Given the description of an element on the screen output the (x, y) to click on. 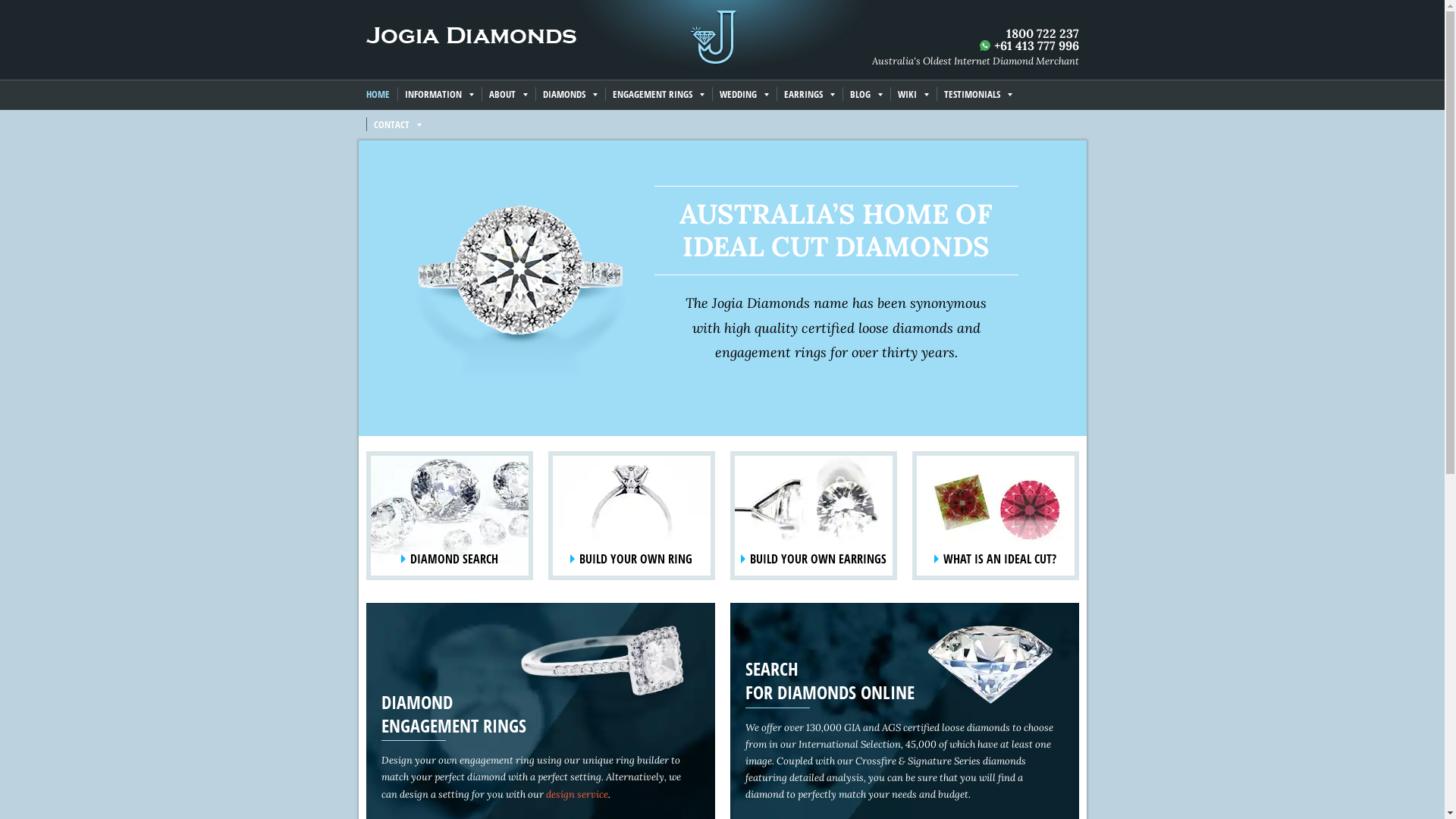
design service Element type: text (577, 794)
TESTIMONIALS Element type: text (977, 95)
HOME Element type: text (380, 95)
INFORMATION Element type: text (439, 95)
ENGAGEMENT RINGS Element type: text (658, 95)
BUILD YOUR OWN RING Element type: text (630, 515)
WIKI Element type: text (913, 95)
DIAMONDS Element type: text (570, 95)
DIAMOND
ENGAGEMENT RINGS Element type: text (452, 713)
CONTACT Element type: text (396, 125)
SEARCH
FOR DIAMONDS ONLINE Element type: text (828, 679)
DIAMOND SEARCH Element type: text (448, 515)
+61 413 777 996 Element type: text (1035, 45)
ABOUT Element type: text (507, 95)
BUILD YOUR OWN EARRINGS Element type: text (812, 515)
WHAT IS AN IDEAL CUT? Element type: text (994, 515)
BLOG Element type: text (865, 95)
WEDDING Element type: text (743, 95)
EARRINGS Element type: text (809, 95)
